Given the description of an element on the screen output the (x, y) to click on. 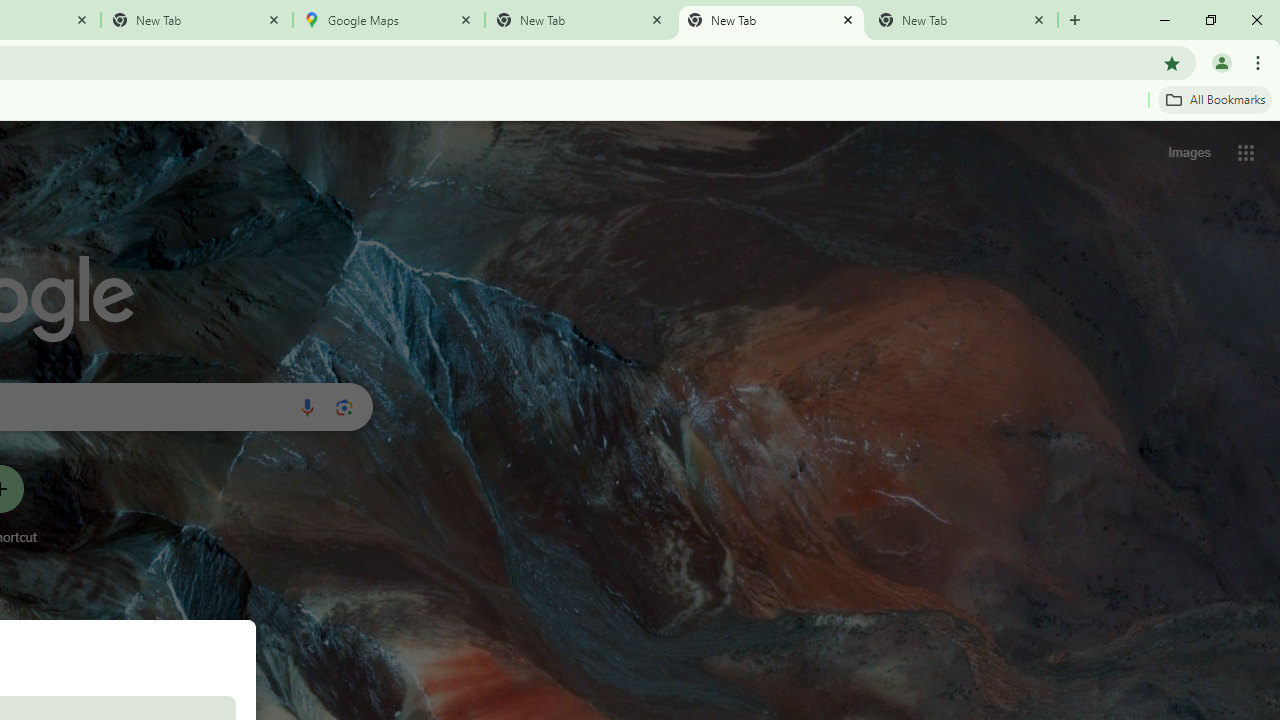
New Tab (197, 20)
New Tab (962, 20)
Google Maps (389, 20)
